Given the description of an element on the screen output the (x, y) to click on. 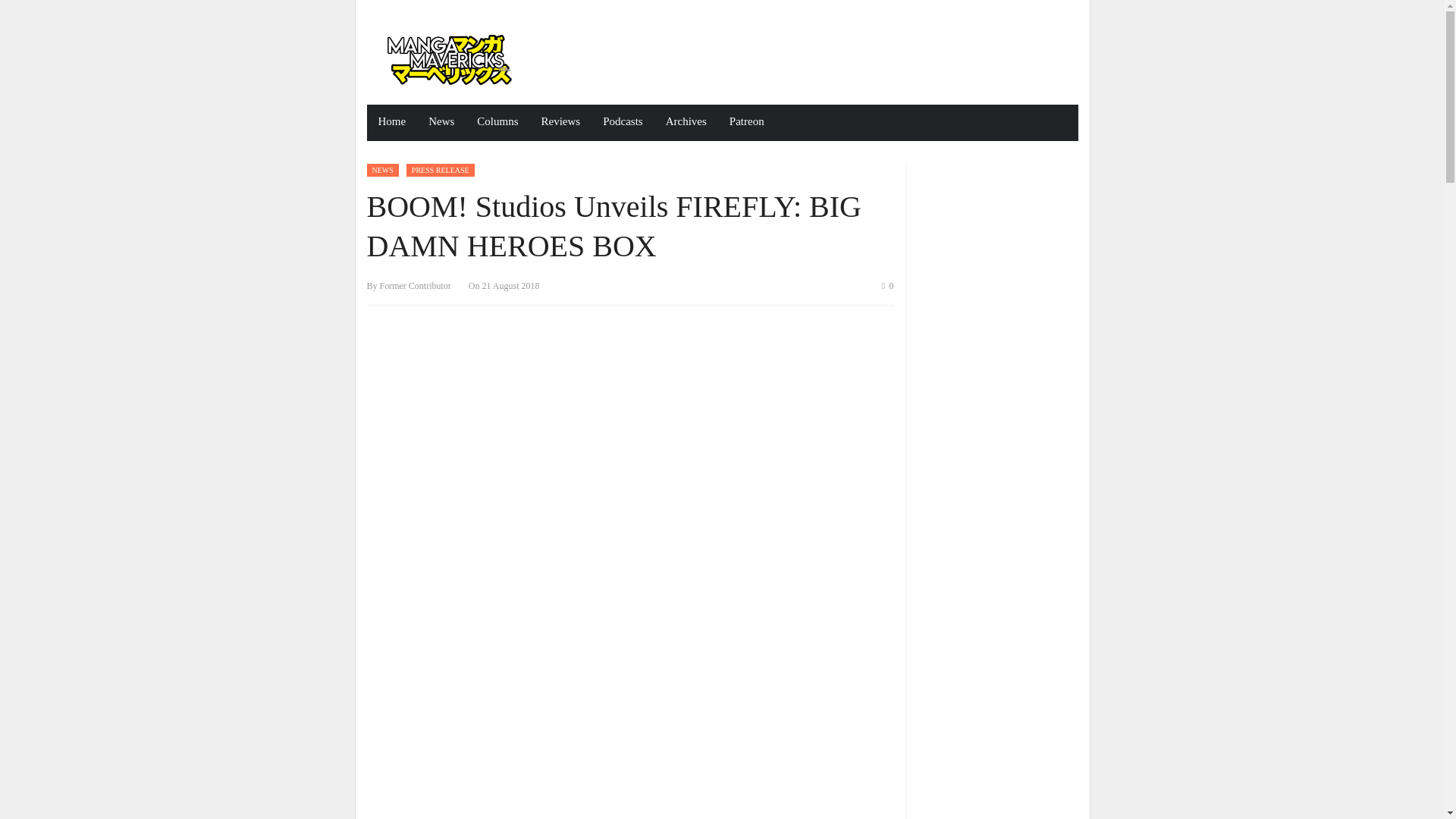
Podcasts (622, 122)
Home (391, 122)
Columns (497, 122)
Reviews (560, 122)
BOOM! Studios Unveils FIREFLY: BIG DAMN HEROES BOX (613, 225)
Archives (685, 122)
News (440, 122)
